Given the description of an element on the screen output the (x, y) to click on. 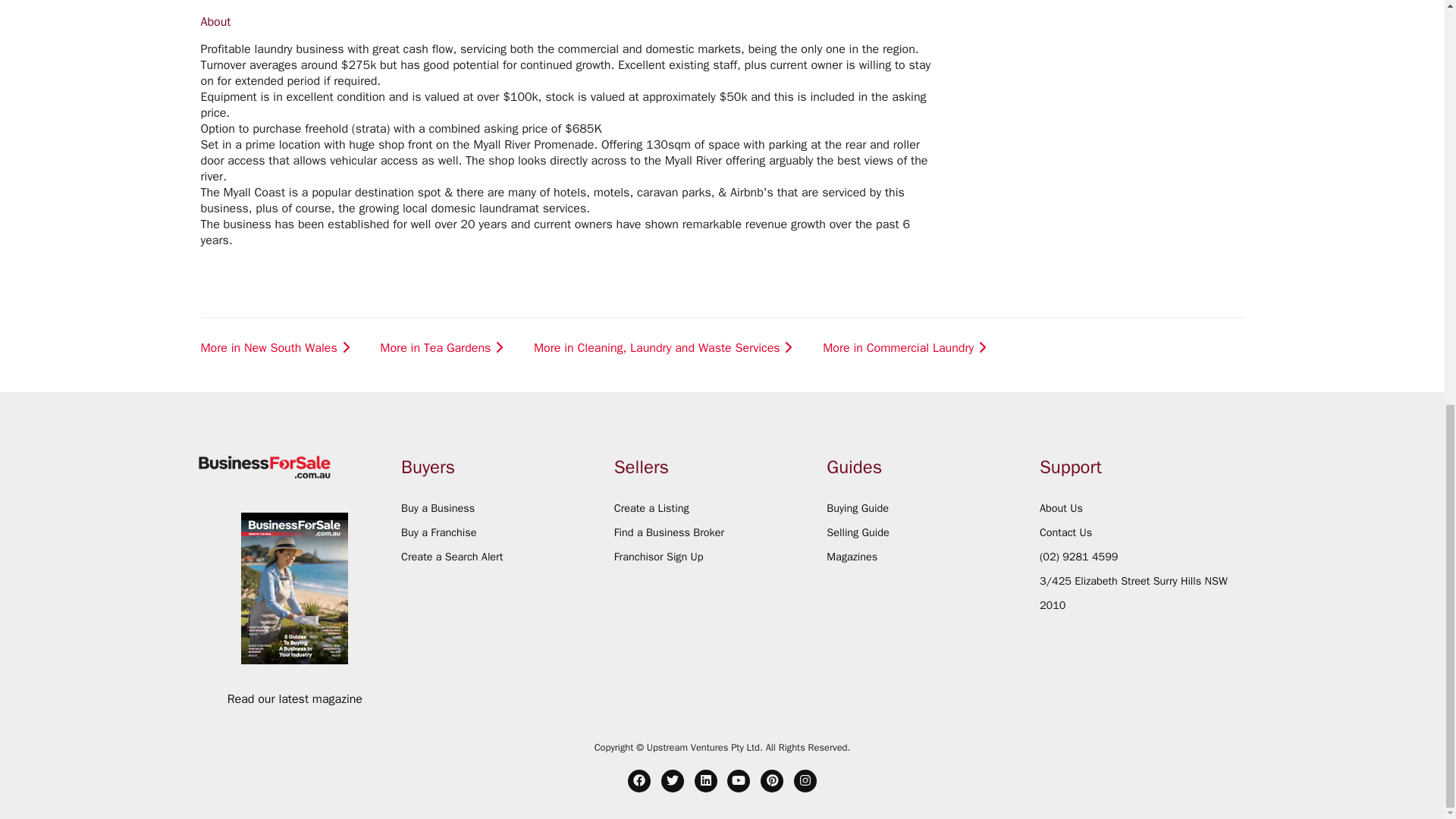
More in Tea Gardens (443, 348)
More in Cleaning, Laundry and Waste Services (665, 348)
Cleaning, Laundry and Waste Services (565, 9)
More in New South Wales (276, 348)
More in Commercial Laundry (906, 348)
